Given the description of an element on the screen output the (x, y) to click on. 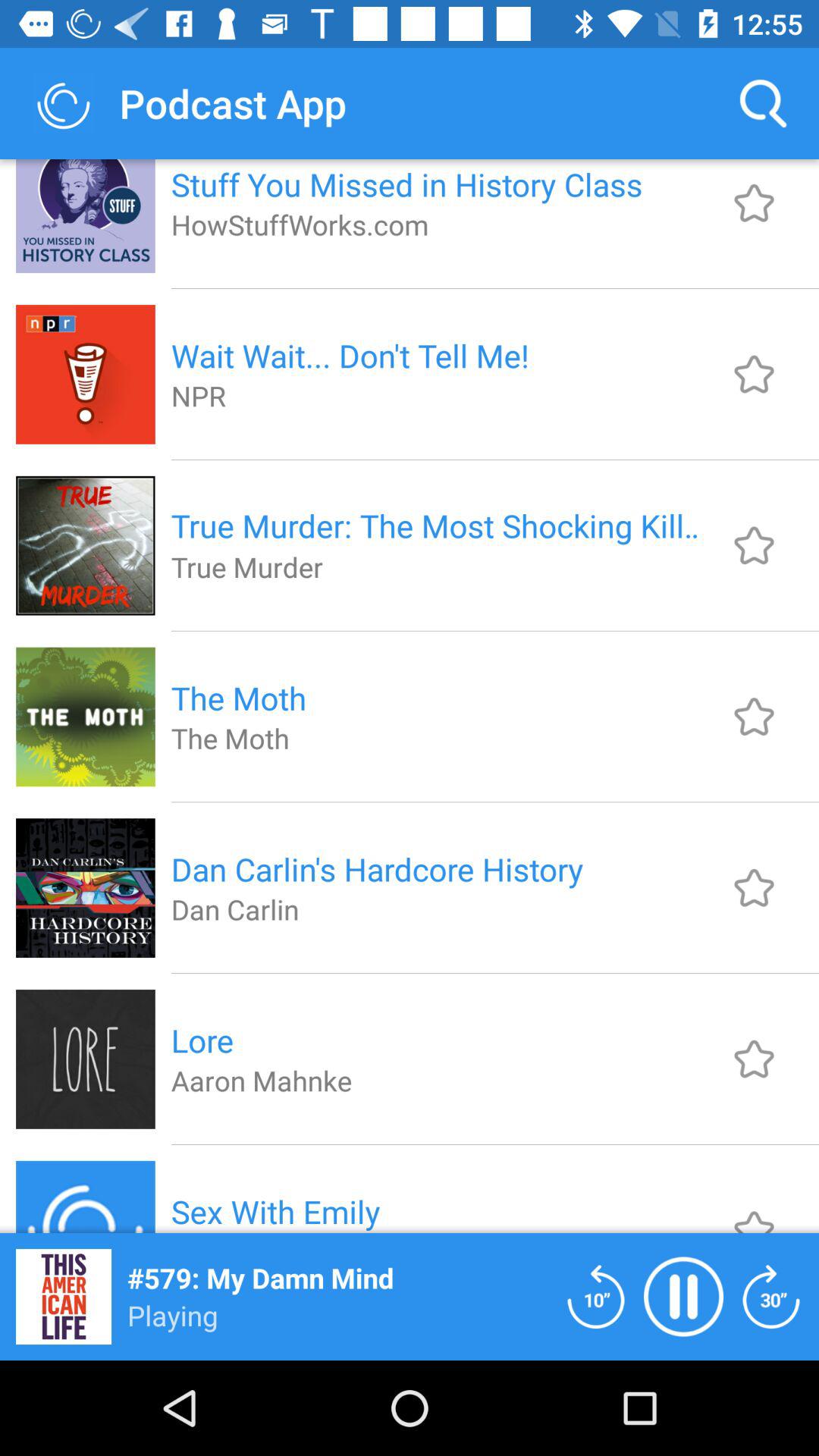
mark as favorite (754, 1209)
